Given the description of an element on the screen output the (x, y) to click on. 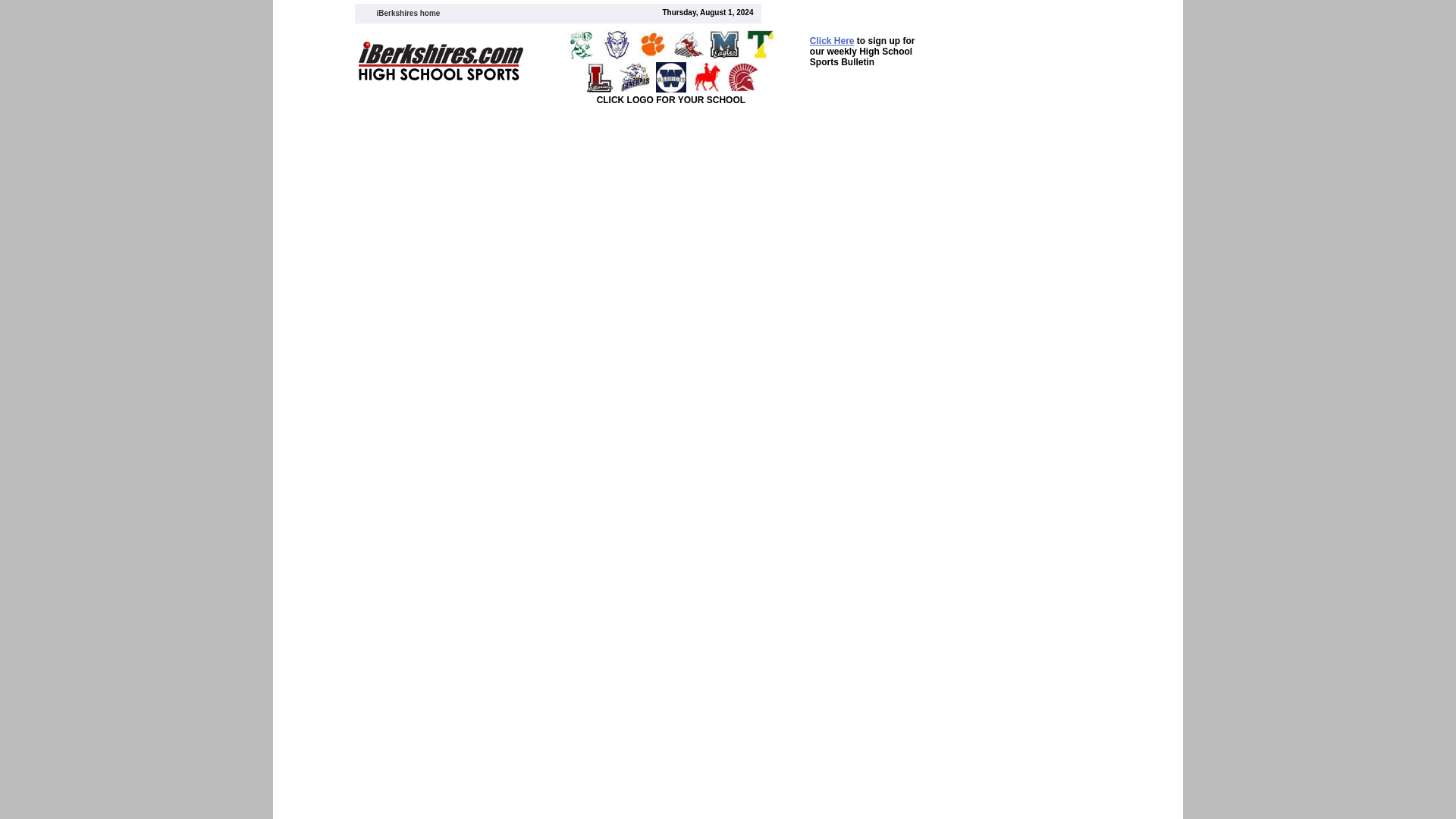
Click Here (831, 40)
Iberkshires.com (407, 13)
iBerkshires home (407, 13)
